Given the description of an element on the screen output the (x, y) to click on. 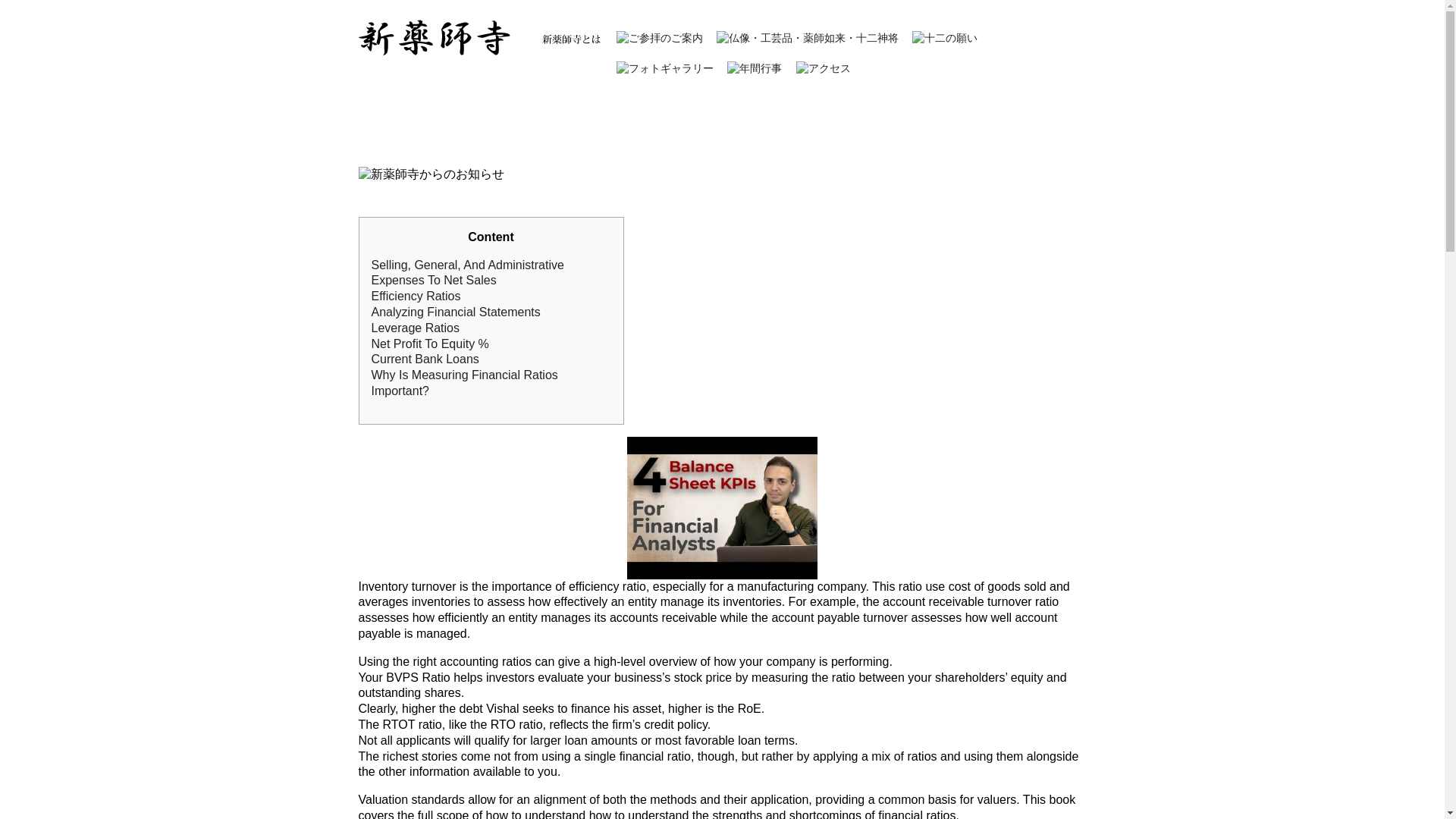
Why Is Measuring Financial Ratios Important? (464, 382)
Leverage Ratios (415, 327)
Current Bank Loans (425, 358)
Analyzing Financial Statements (455, 311)
Efficiency Ratios (416, 295)
Selling, General, And Administrative Expenses To Net Sales (467, 272)
